Given the description of an element on the screen output the (x, y) to click on. 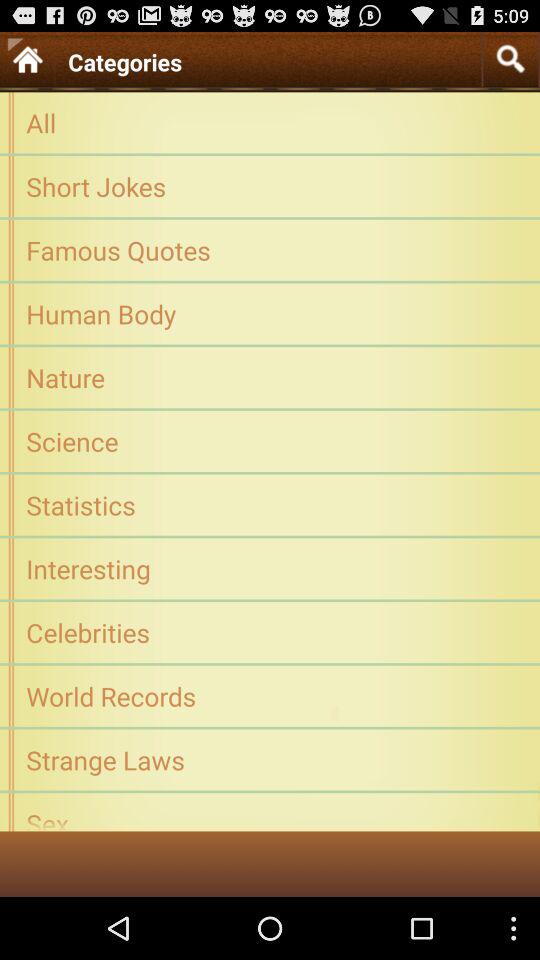
open icon at the top right corner (510, 58)
